Given the description of an element on the screen output the (x, y) to click on. 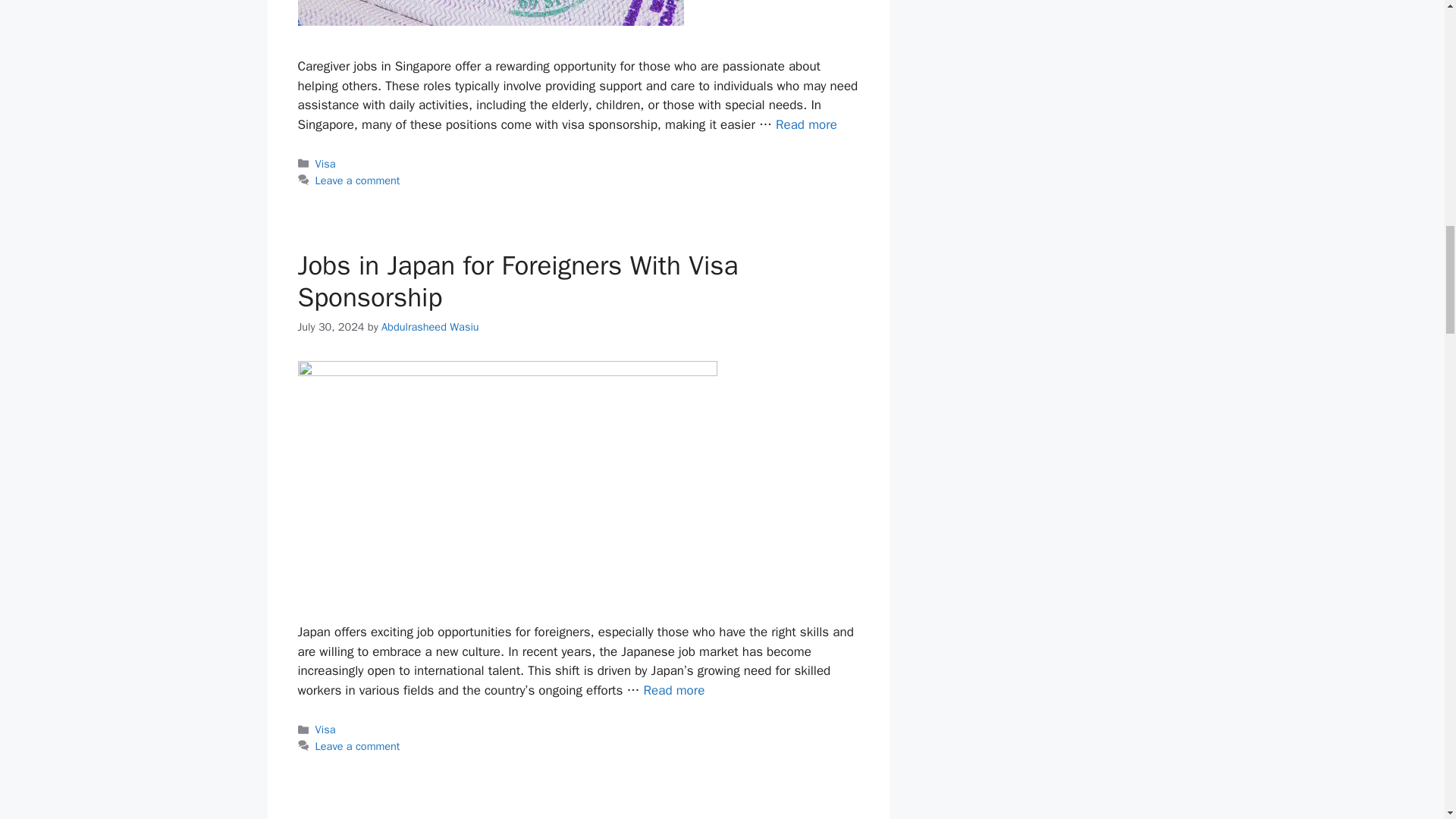
Jobs in Japan for Foreigners With Visa Sponsorship (673, 690)
Read more (673, 690)
Visa (325, 163)
Leave a comment (357, 745)
Jobs in Japan for Foreigners With Visa Sponsorship (517, 280)
Visa (325, 729)
Caregiver Jobs in Singapore With Visa Sponsorship (806, 124)
Leave a comment (357, 180)
Abdulrasheed Wasiu (430, 326)
Read more (806, 124)
View all posts by Abdulrasheed Wasiu (430, 326)
